Given the description of an element on the screen output the (x, y) to click on. 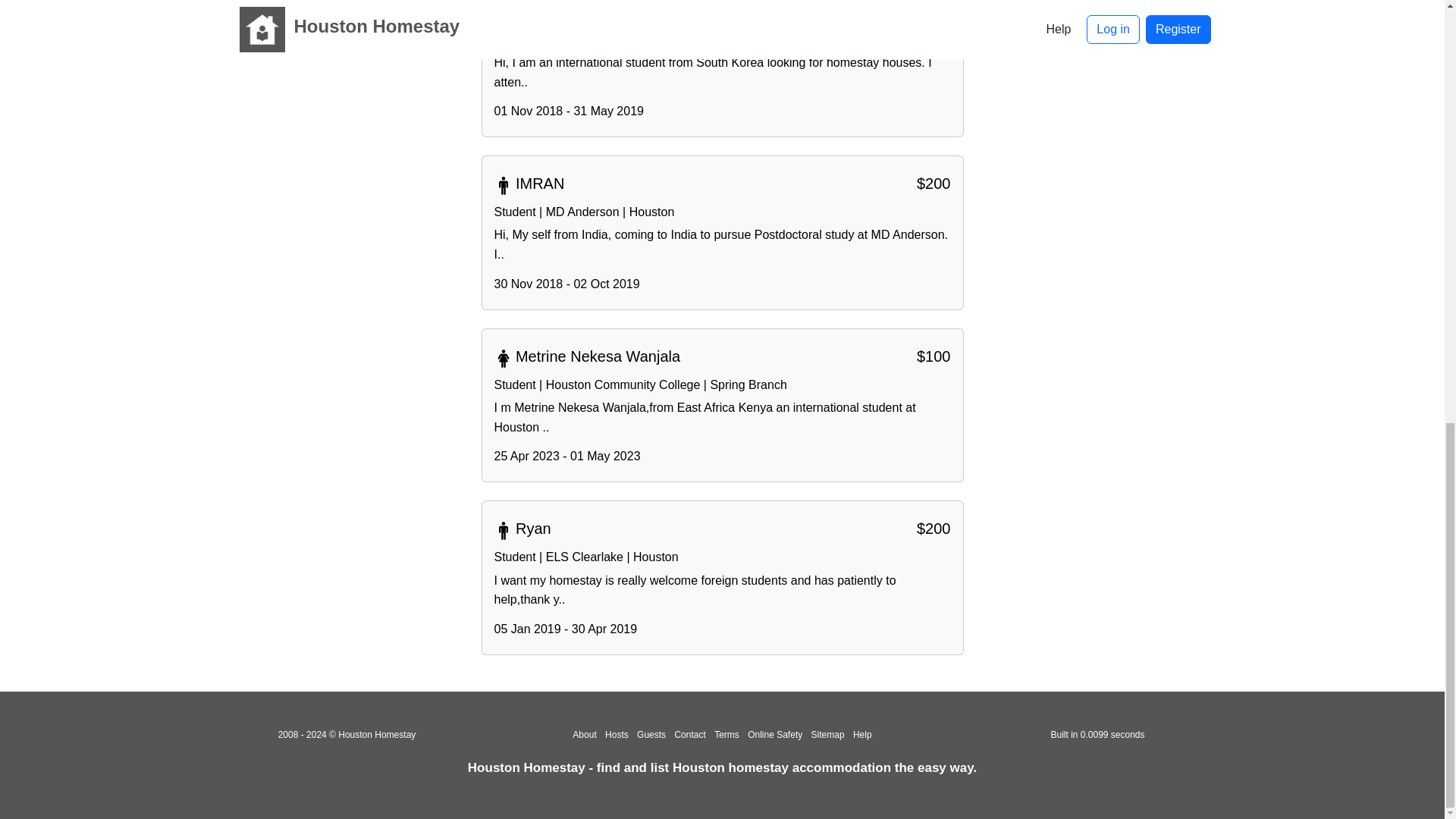
Sitemap (827, 734)
About (583, 734)
Hosts (616, 734)
Contact (689, 734)
Online Safety (775, 734)
Terms (726, 734)
Help (862, 734)
Guests (651, 734)
